Given the description of an element on the screen output the (x, y) to click on. 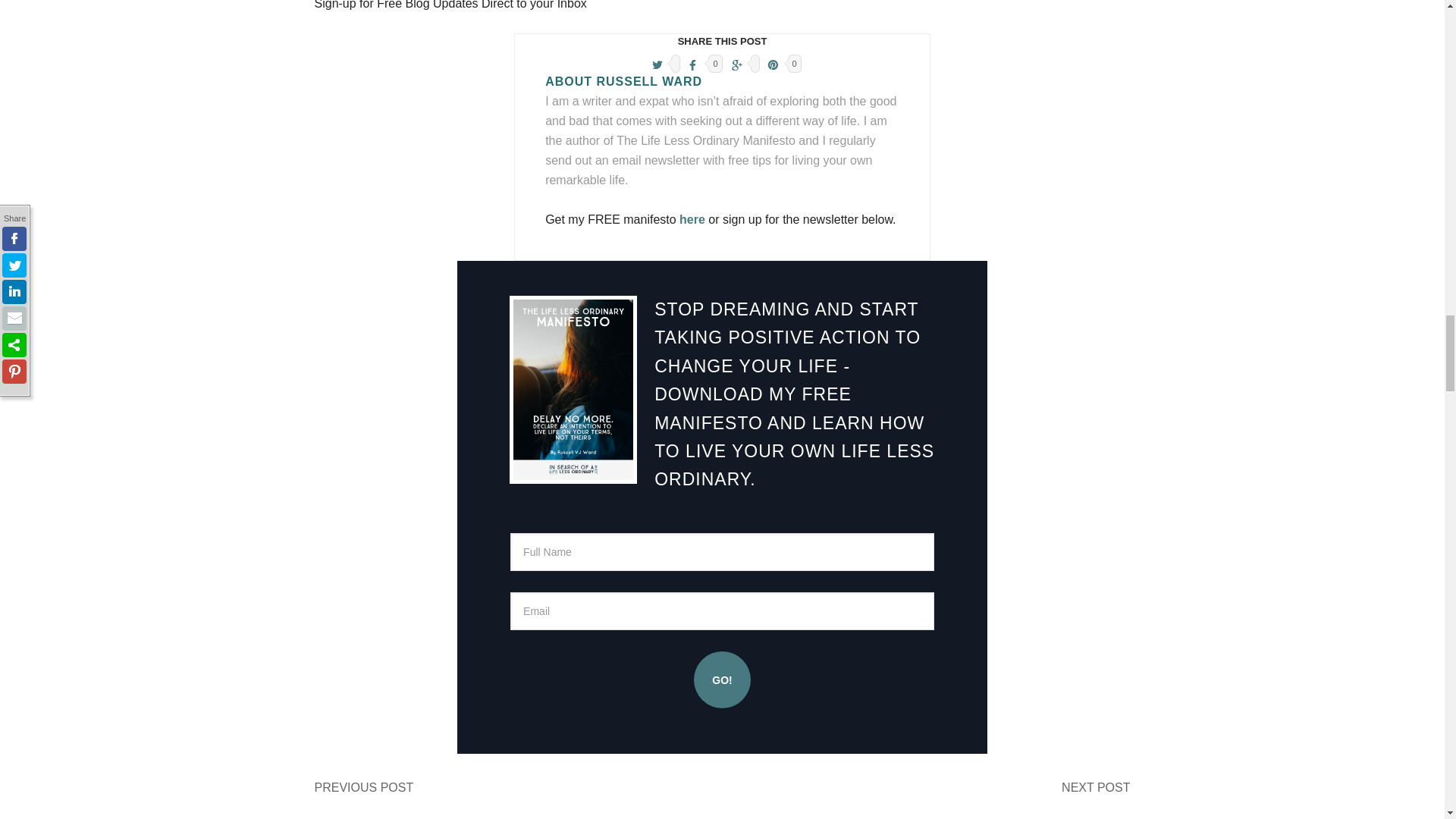
0 (700, 61)
pinterest (773, 64)
google (735, 64)
here (691, 219)
twitter (657, 64)
Go! (722, 679)
0 (781, 61)
NEXT POST (1095, 787)
Go! (722, 679)
PREVIOUS POST (363, 787)
facebook (693, 64)
